Given the description of an element on the screen output the (x, y) to click on. 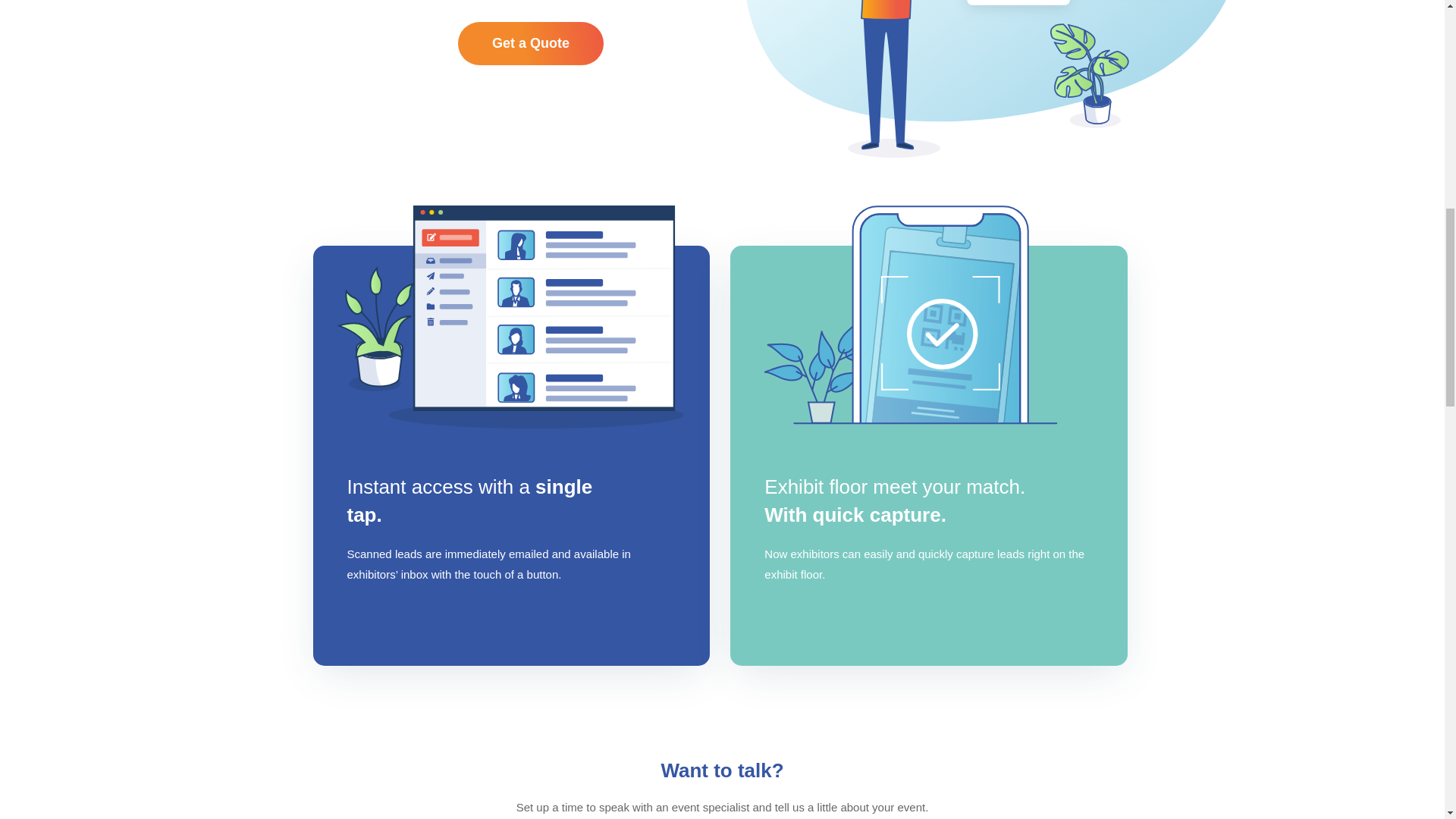
Leads Emailed (511, 318)
Relationships (995, 79)
Mobile Capture (927, 318)
